Given the description of an element on the screen output the (x, y) to click on. 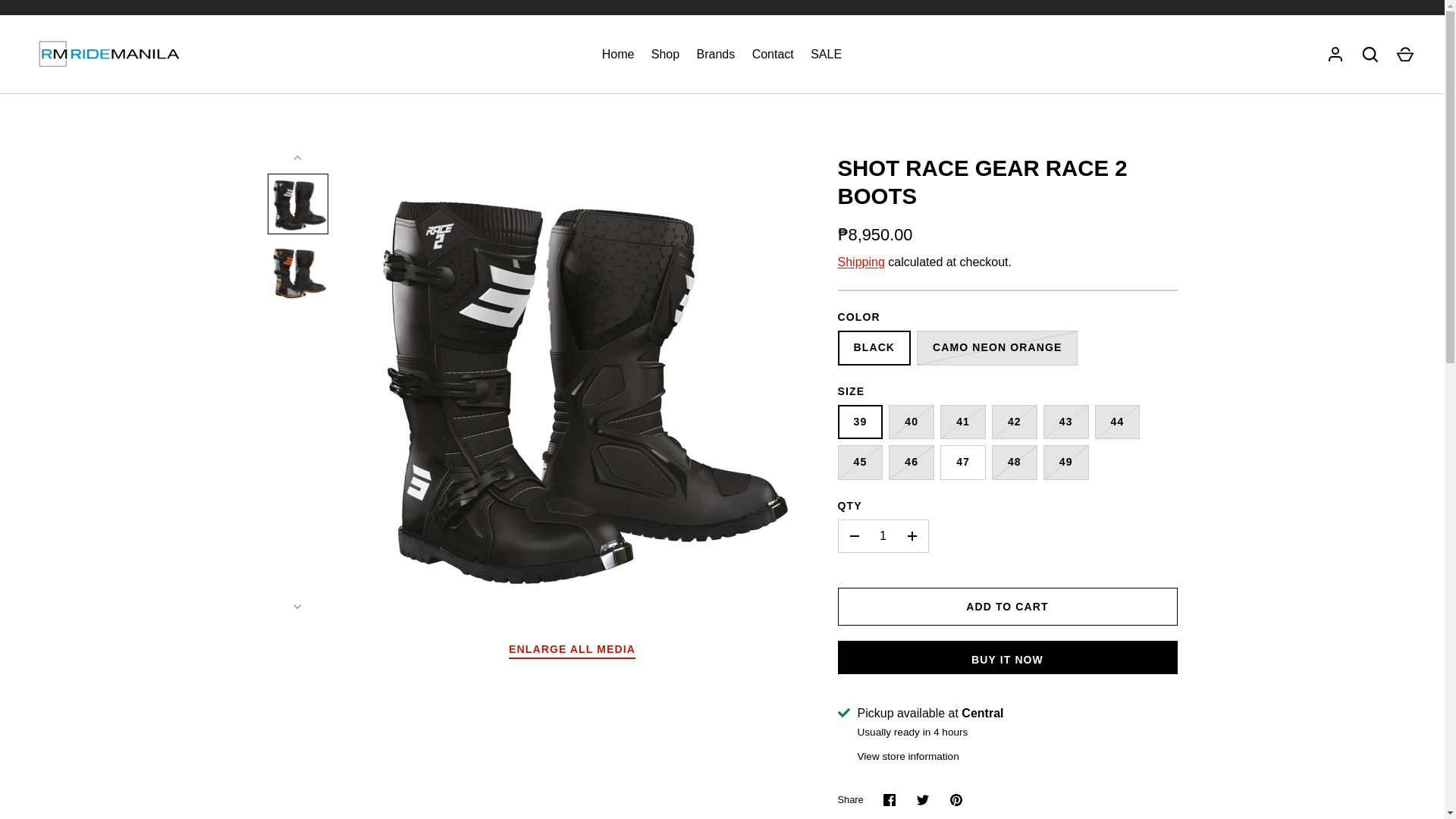
Sold out (997, 347)
Sold out (1117, 421)
Sold out (1066, 421)
Sold out (859, 462)
Sold out (1013, 462)
Sold out (1066, 462)
Home (618, 54)
Brands (714, 54)
1 (883, 536)
Sold out (911, 462)
